Given the description of an element on the screen output the (x, y) to click on. 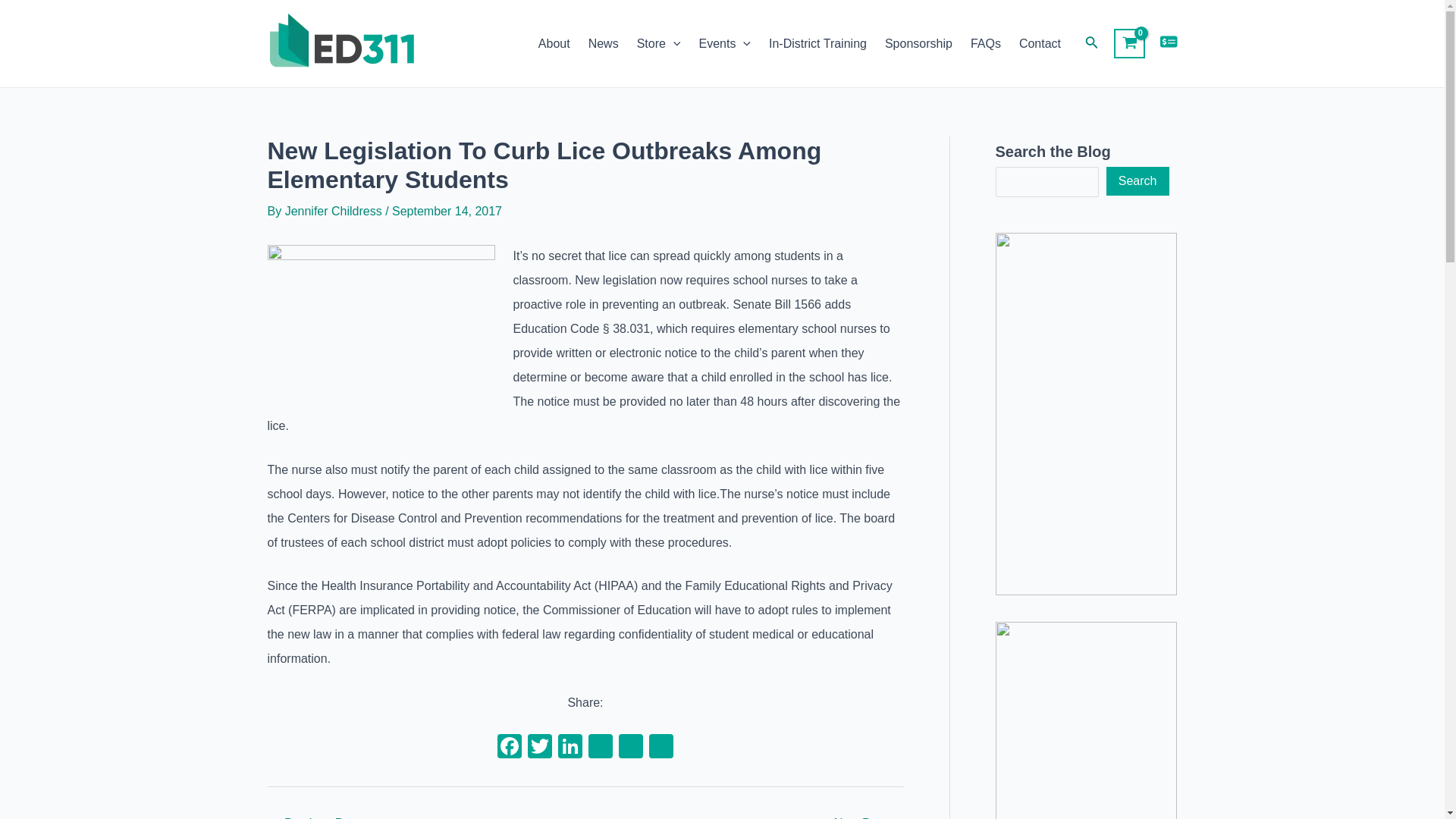
Events (724, 43)
Search (1137, 181)
Contact (1040, 43)
View all posts by Jennifer Childress (335, 210)
Twitter (539, 747)
Copy Link (600, 747)
In-District Training (818, 43)
Email (630, 747)
Store (658, 43)
Facebook (509, 747)
LinkedIn (569, 747)
Sponsorship (918, 43)
